Given the description of an element on the screen output the (x, y) to click on. 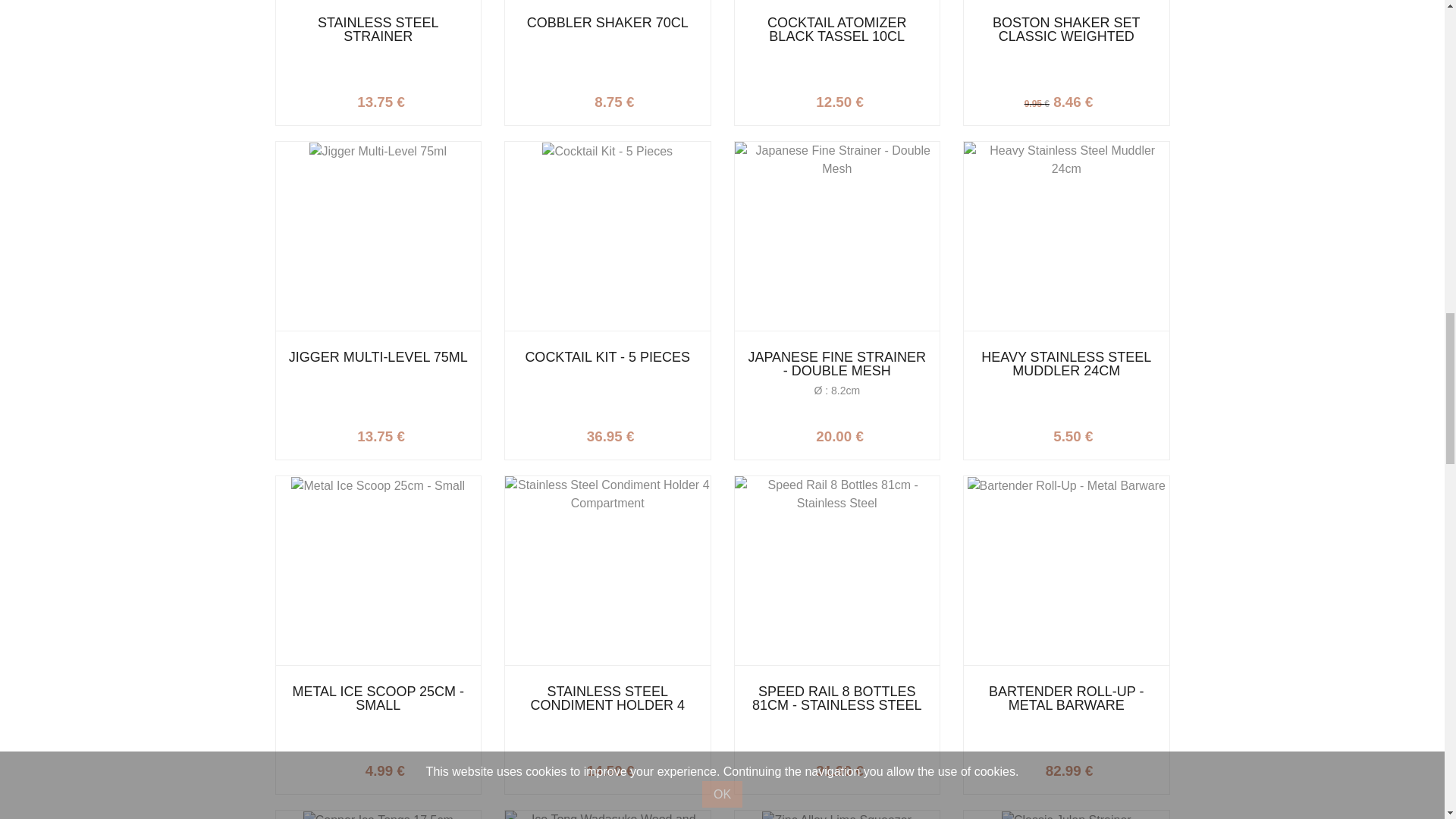
More info (424, 98)
Add to cart (882, 98)
Add to cart (424, 432)
Add to cart (653, 432)
More info (882, 98)
More info (653, 98)
Add to cart (882, 432)
More info (1111, 98)
More info (653, 432)
Add to cart (1111, 98)
